Given the description of an element on the screen output the (x, y) to click on. 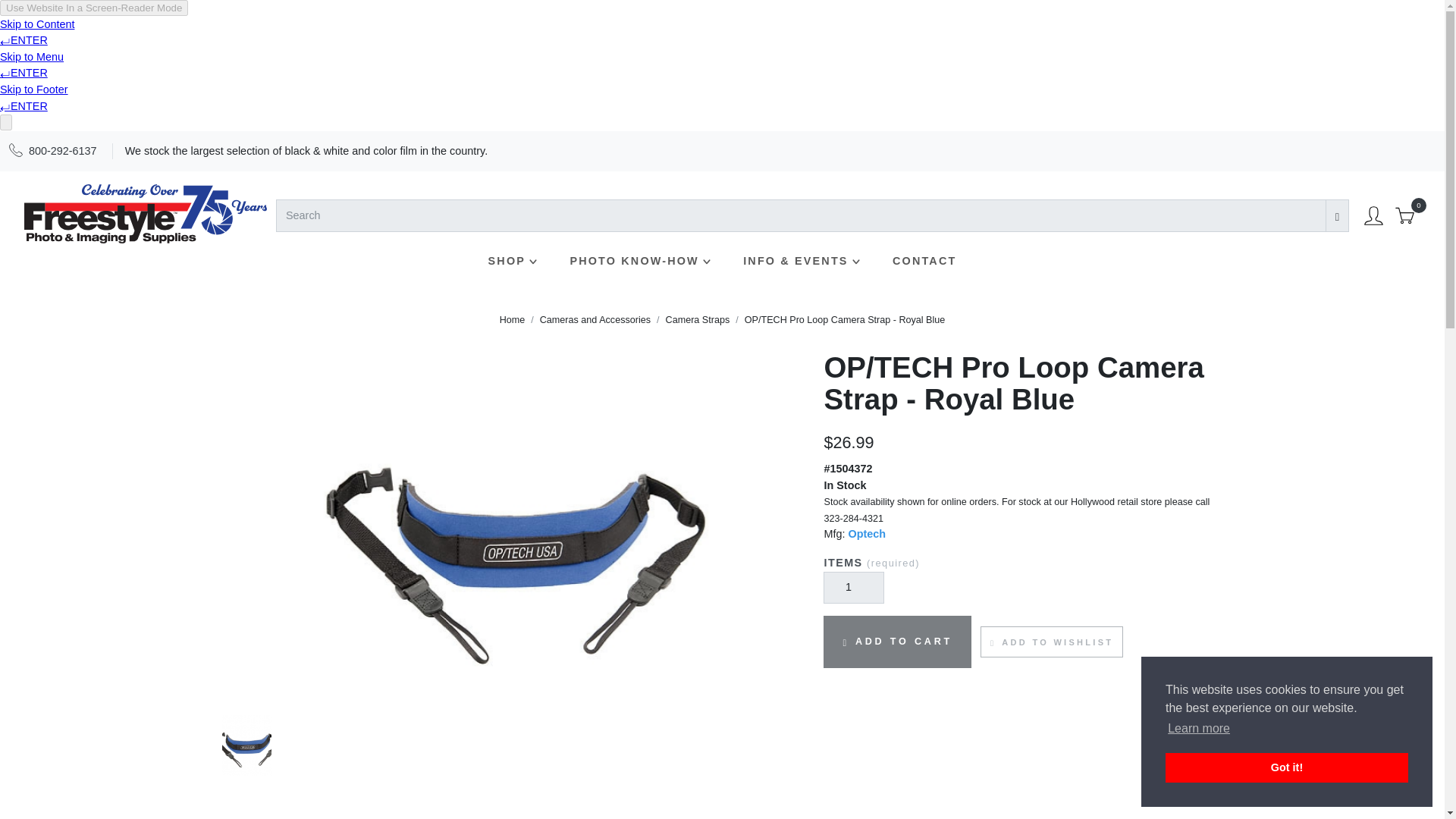
1 (853, 587)
SHOP (513, 261)
Learn more (1198, 728)
800-292-6137 (63, 150)
Got it! (1286, 767)
0 (1403, 215)
